Given the description of an element on the screen output the (x, y) to click on. 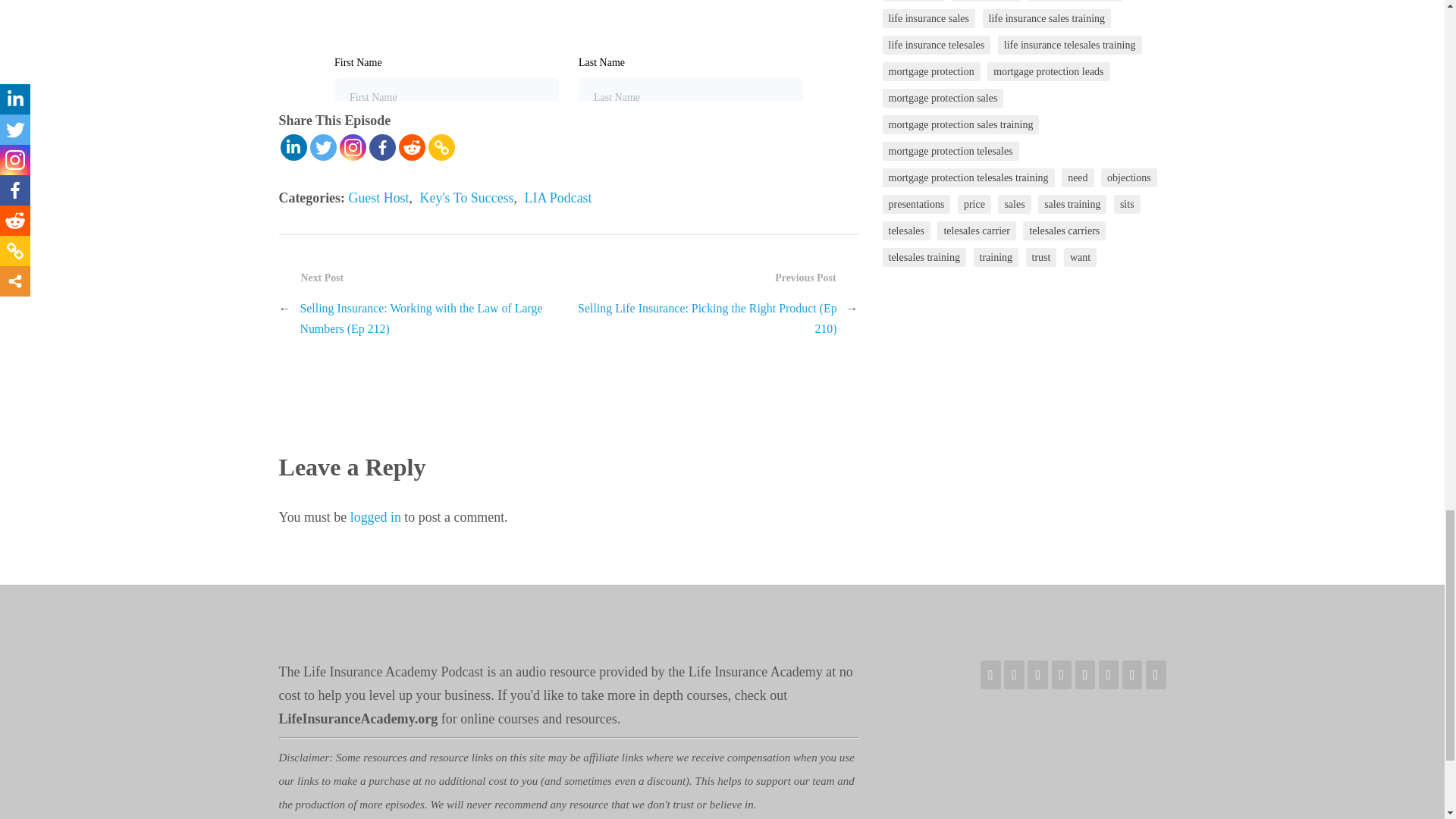
Instagram (352, 147)
Copy Link (441, 147)
LIA Podcast Form  (569, 50)
logged in (375, 516)
Guest Host (378, 197)
Twitter (322, 147)
Facebook (381, 147)
Reddit (411, 147)
LIA Podcast (558, 197)
Linkedin (294, 147)
